Given the description of an element on the screen output the (x, y) to click on. 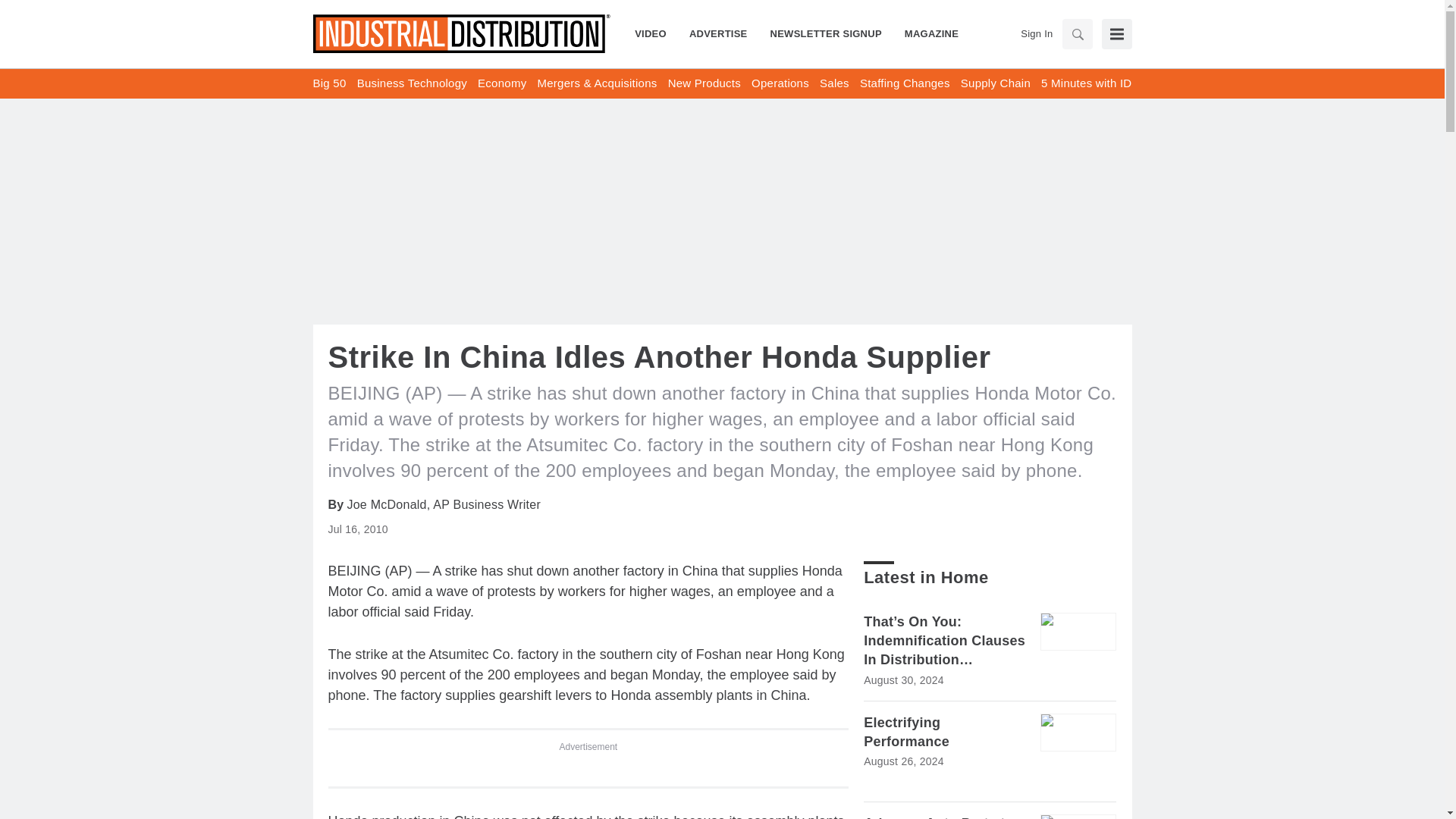
Sign In (1036, 33)
MAGAZINE (925, 33)
Operations (780, 83)
Supply Chain (995, 83)
5 Minutes with ID (1086, 83)
Staffing Changes (905, 83)
VIDEO (656, 33)
Business Technology (411, 83)
NEWSLETTER SIGNUP (825, 33)
New Products (704, 83)
